Given the description of an element on the screen output the (x, y) to click on. 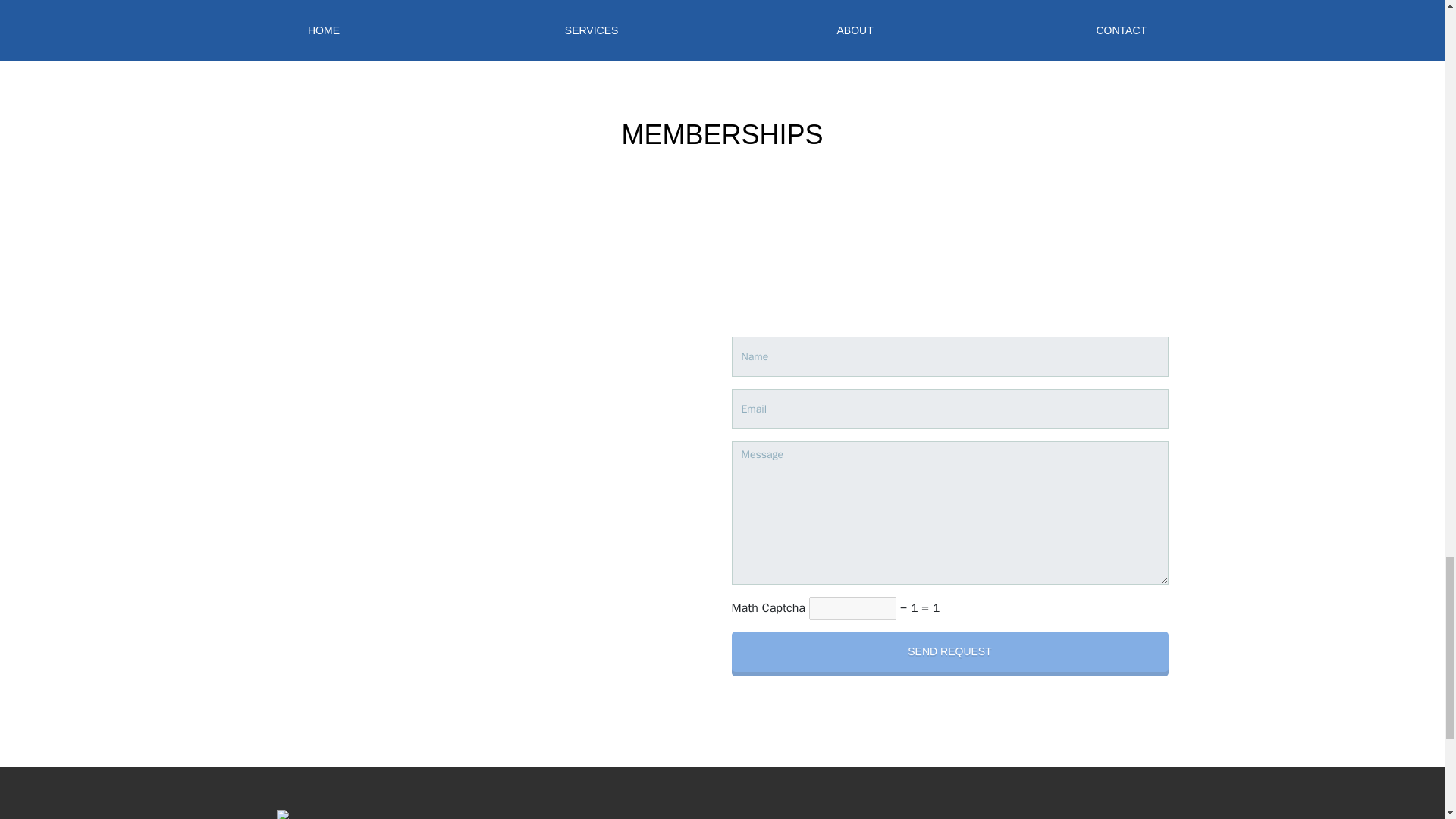
SEND REQUEST (948, 651)
SEND REQUEST (948, 651)
